Given the description of an element on the screen output the (x, y) to click on. 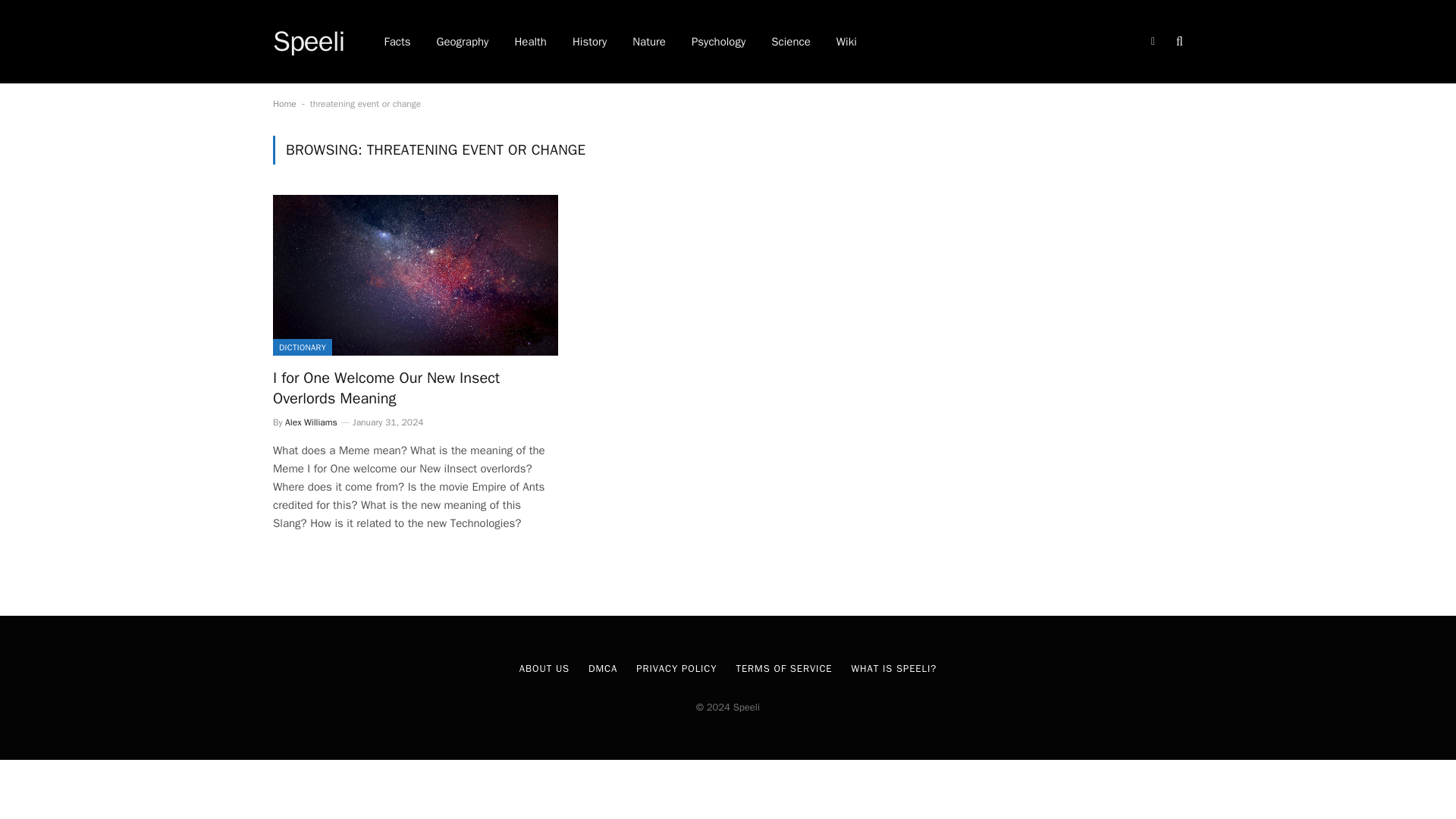
Speeli (308, 41)
ABOUT US (544, 667)
Alex Williams (311, 422)
I for One Welcome Our New Insect Overlords Meaning (415, 387)
WHAT IS SPEELI? (894, 667)
Geography (462, 41)
Posts by Alex Williams (311, 422)
PRIVACY POLICY (676, 667)
TERMS OF SERVICE (784, 667)
Psychology (718, 41)
